Given the description of an element on the screen output the (x, y) to click on. 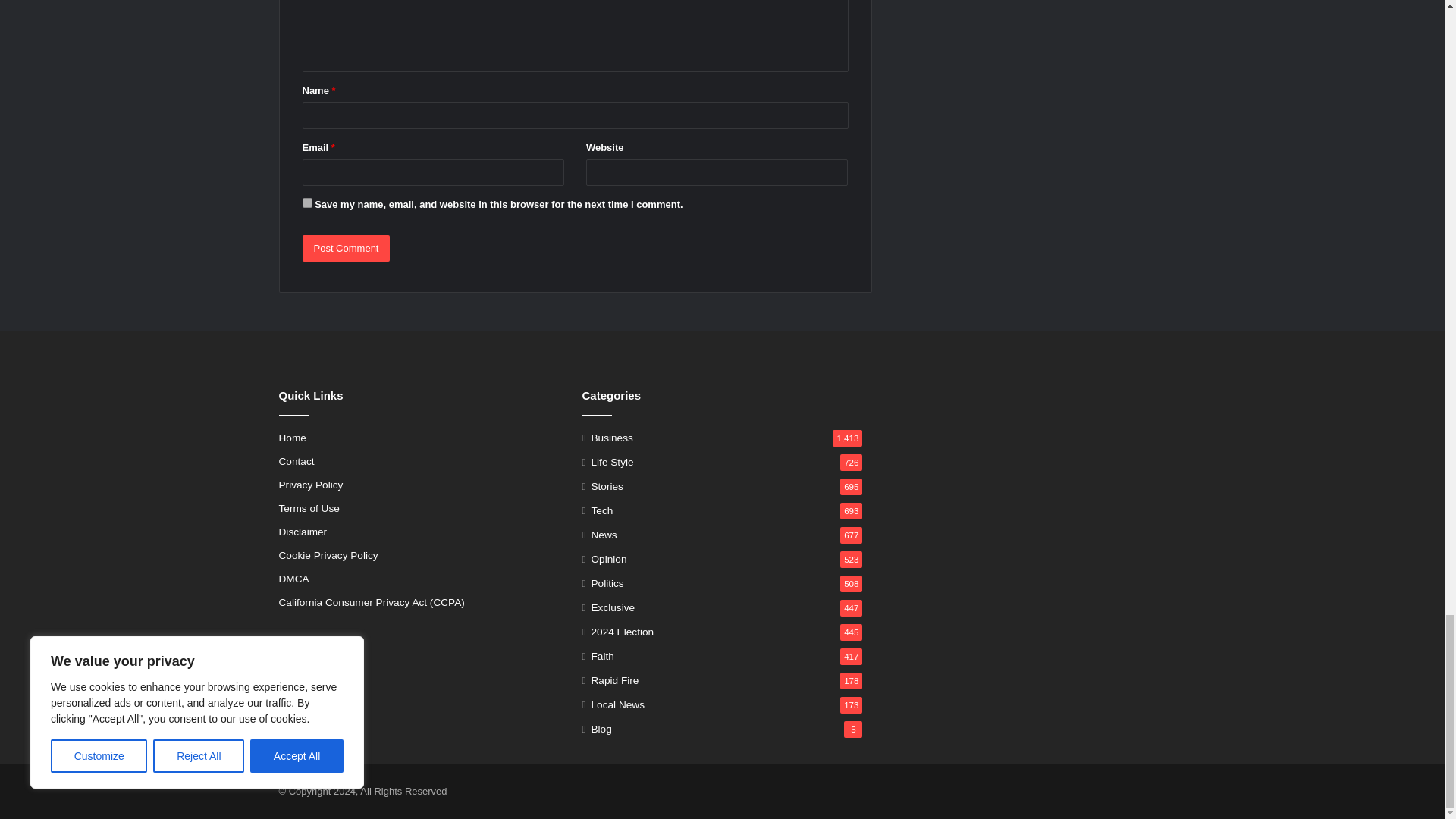
Post Comment (345, 248)
yes (306, 203)
